Given the description of an element on the screen output the (x, y) to click on. 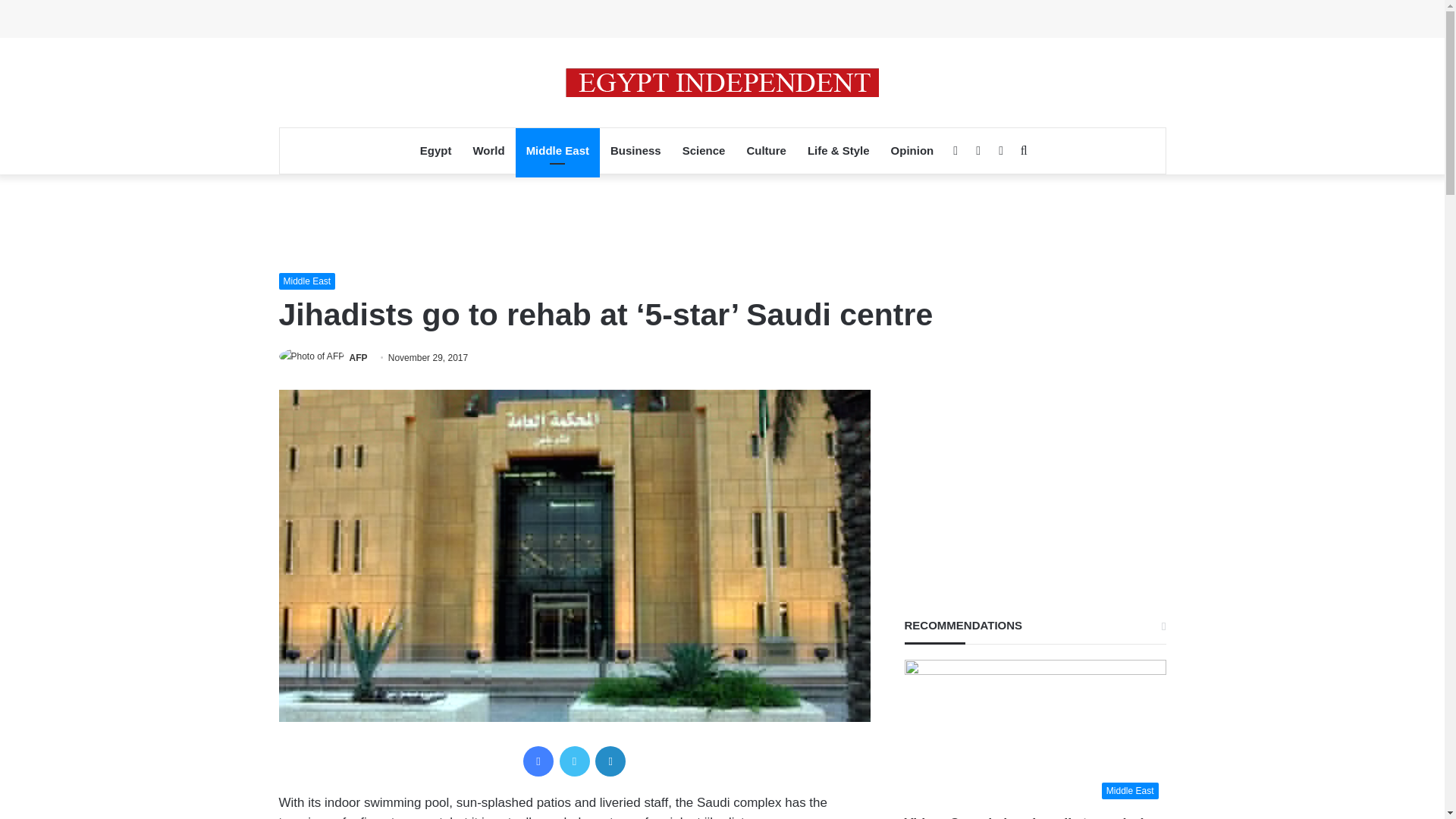
RSS (1000, 150)
AFP (358, 357)
Culture (765, 150)
Twitter (978, 150)
Business (635, 150)
Twitter (574, 761)
Middle East (307, 280)
Egypt Independent (722, 82)
Search for (1023, 150)
Egypt (436, 150)
Middle East (1035, 733)
World (488, 150)
Opinion (912, 150)
AFP (358, 357)
LinkedIn (610, 761)
